Given the description of an element on the screen output the (x, y) to click on. 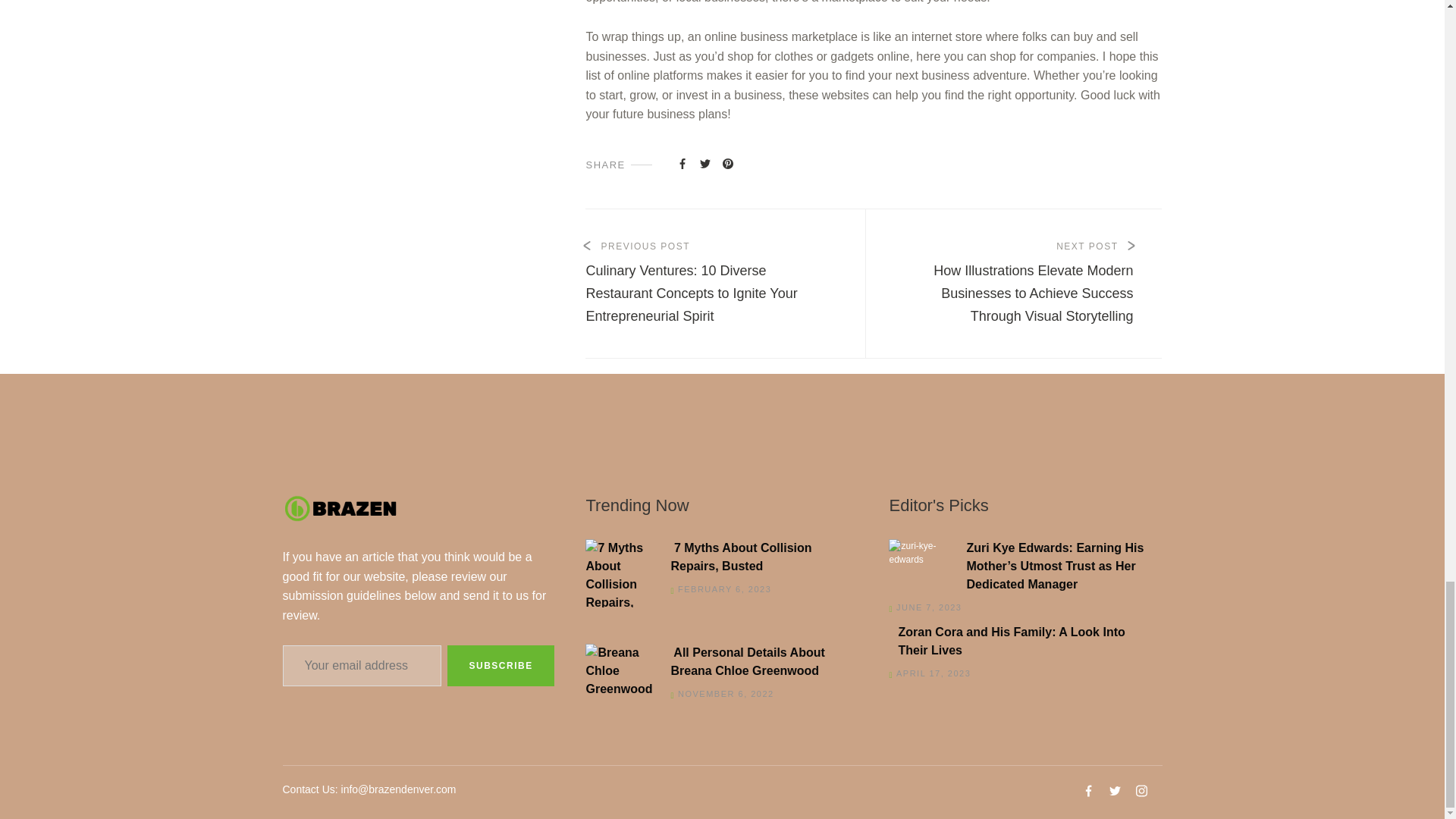
 7 Myths About Collision Repairs, Busted  (717, 556)
Best places to find businesses for sale near (682, 162)
SUBSCRIBE (499, 665)
Best places to find businesses for sale near (727, 162)
 All Personal Details About Breana Chloe Greenwood (717, 661)
Zoran Cora and His Family: A Look Into Their Lives (1021, 641)
Best places to find businesses for sale near (705, 162)
